Given the description of an element on the screen output the (x, y) to click on. 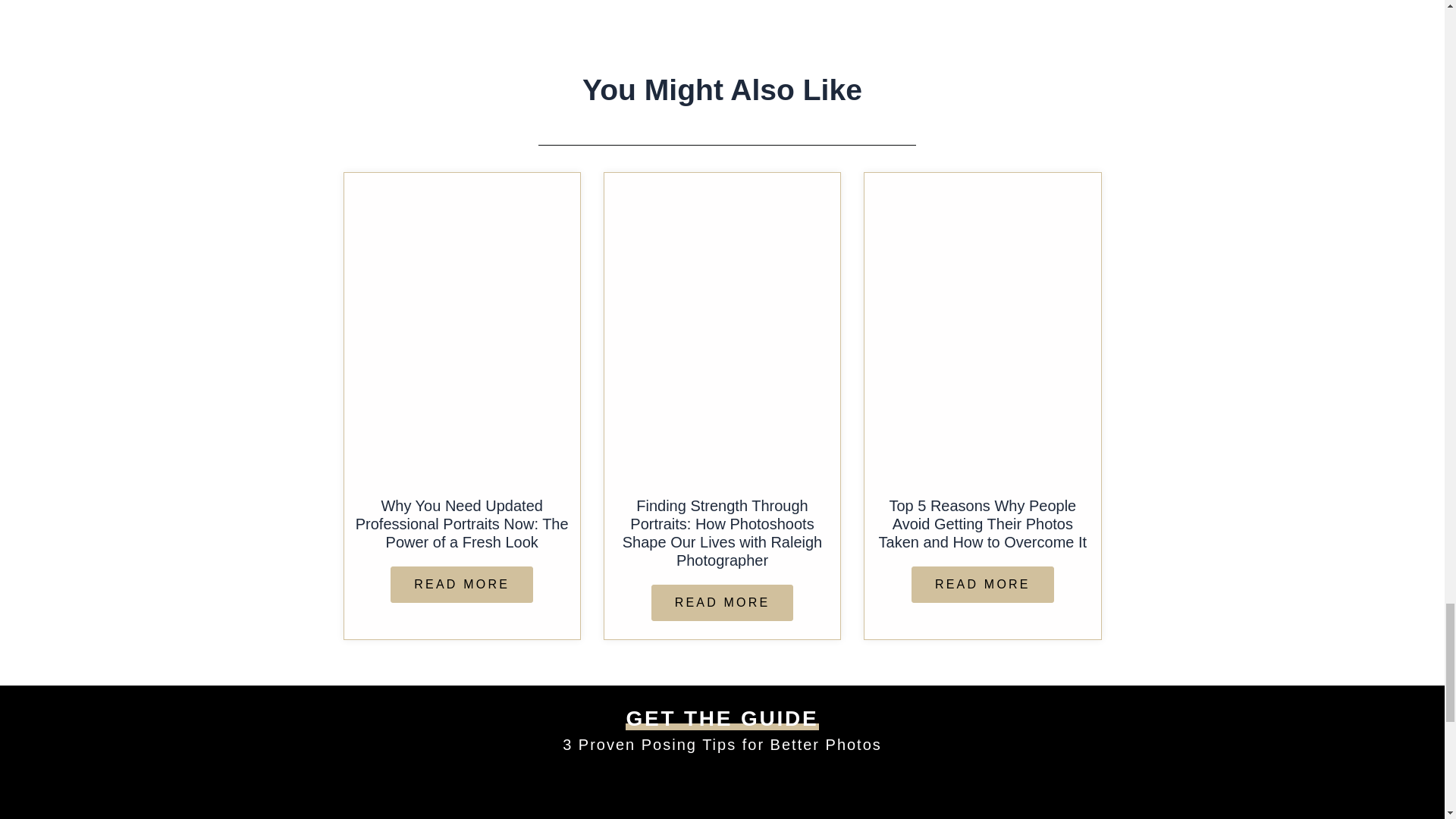
Raleigh NC Cary NC Head Shots Photographer (461, 326)
Evoto (981, 326)
